Given the description of an element on the screen output the (x, y) to click on. 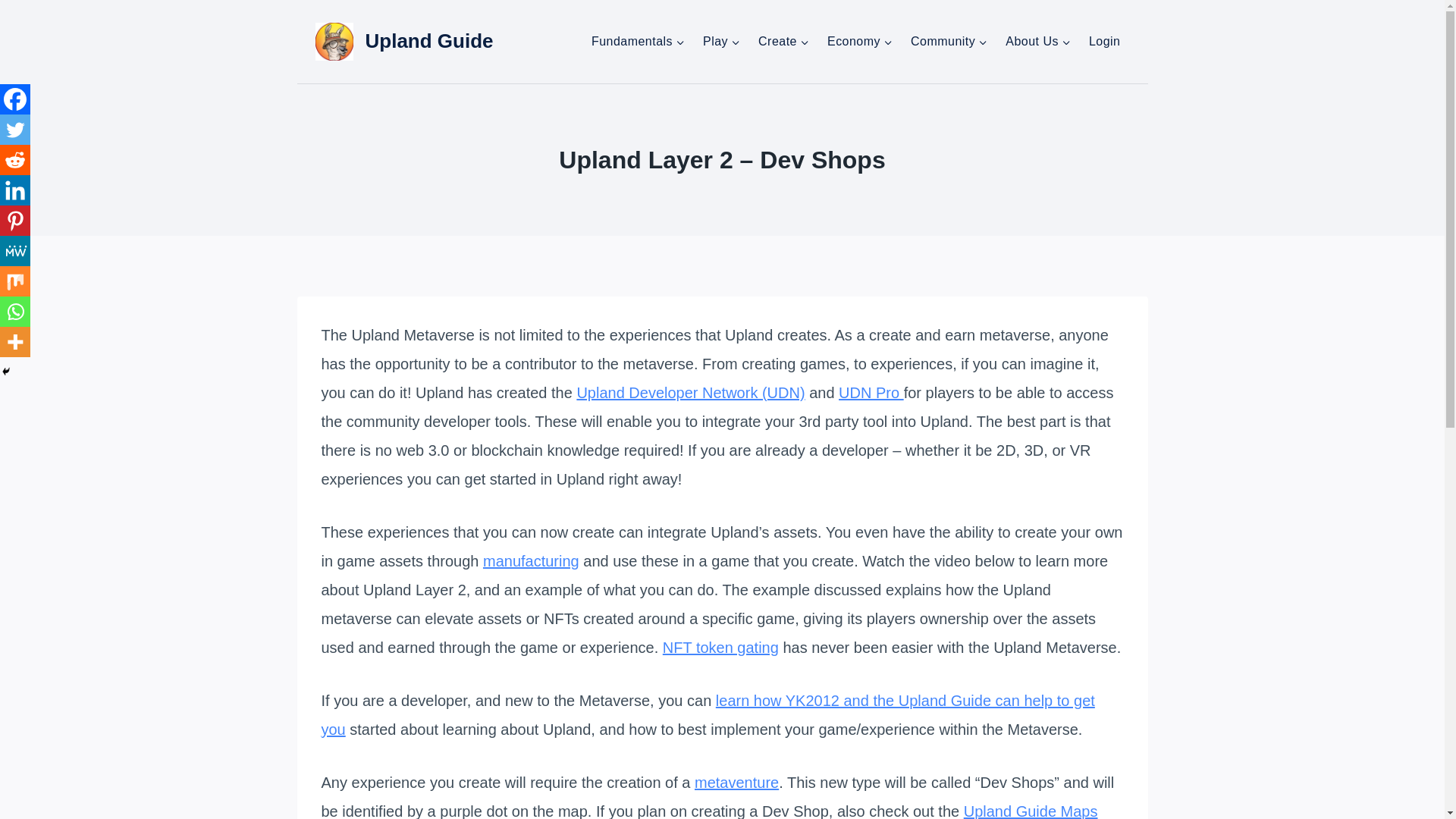
More (15, 341)
Facebook (15, 99)
Hide (5, 371)
Mix (15, 281)
Linkedin (15, 190)
Pinterest (15, 220)
Play (721, 41)
Fundamentals (638, 41)
Whatsapp (15, 311)
MeWe (15, 250)
Upland Guide (404, 41)
Twitter (15, 129)
Reddit (15, 159)
